Given the description of an element on the screen output the (x, y) to click on. 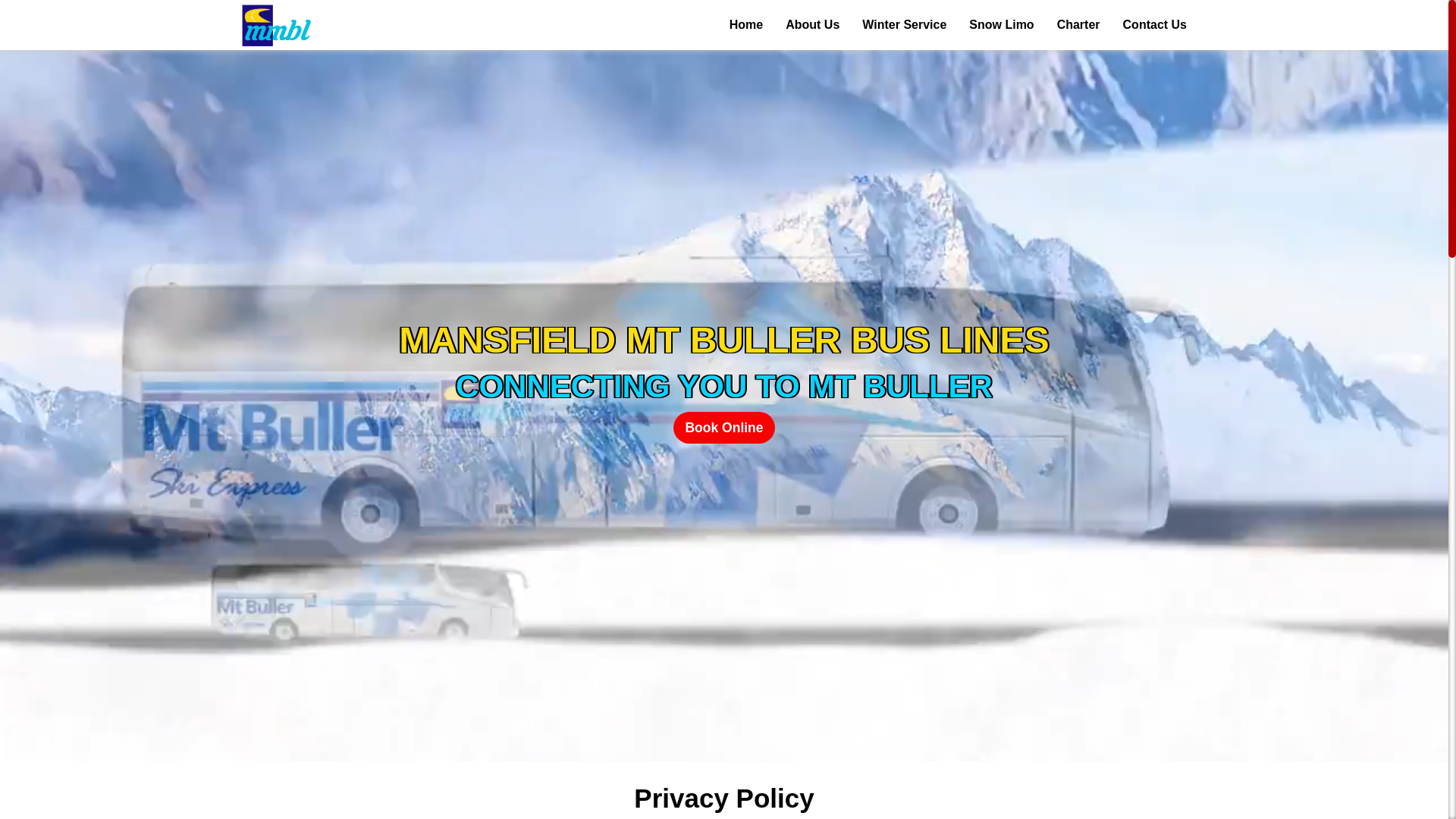
Contact Us Element type: text (1154, 24)
Snow Limo Element type: text (1000, 24)
Book Online Element type: text (723, 427)
Charter Element type: text (1078, 24)
Winter Service Element type: text (903, 24)
Home Element type: text (746, 24)
About Us Element type: text (812, 24)
